Given the description of an element on the screen output the (x, y) to click on. 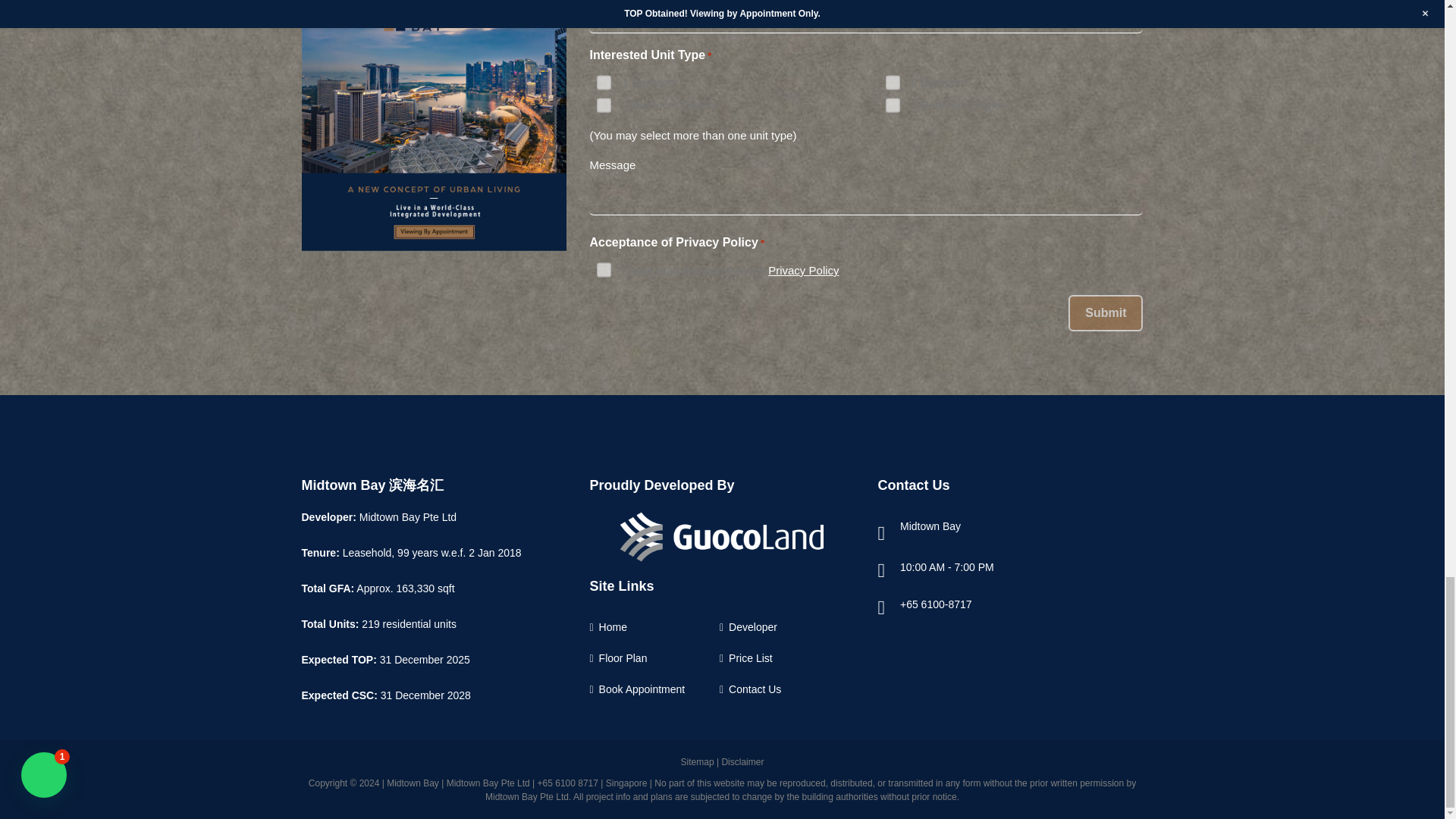
Submit (1105, 312)
